Given the description of an element on the screen output the (x, y) to click on. 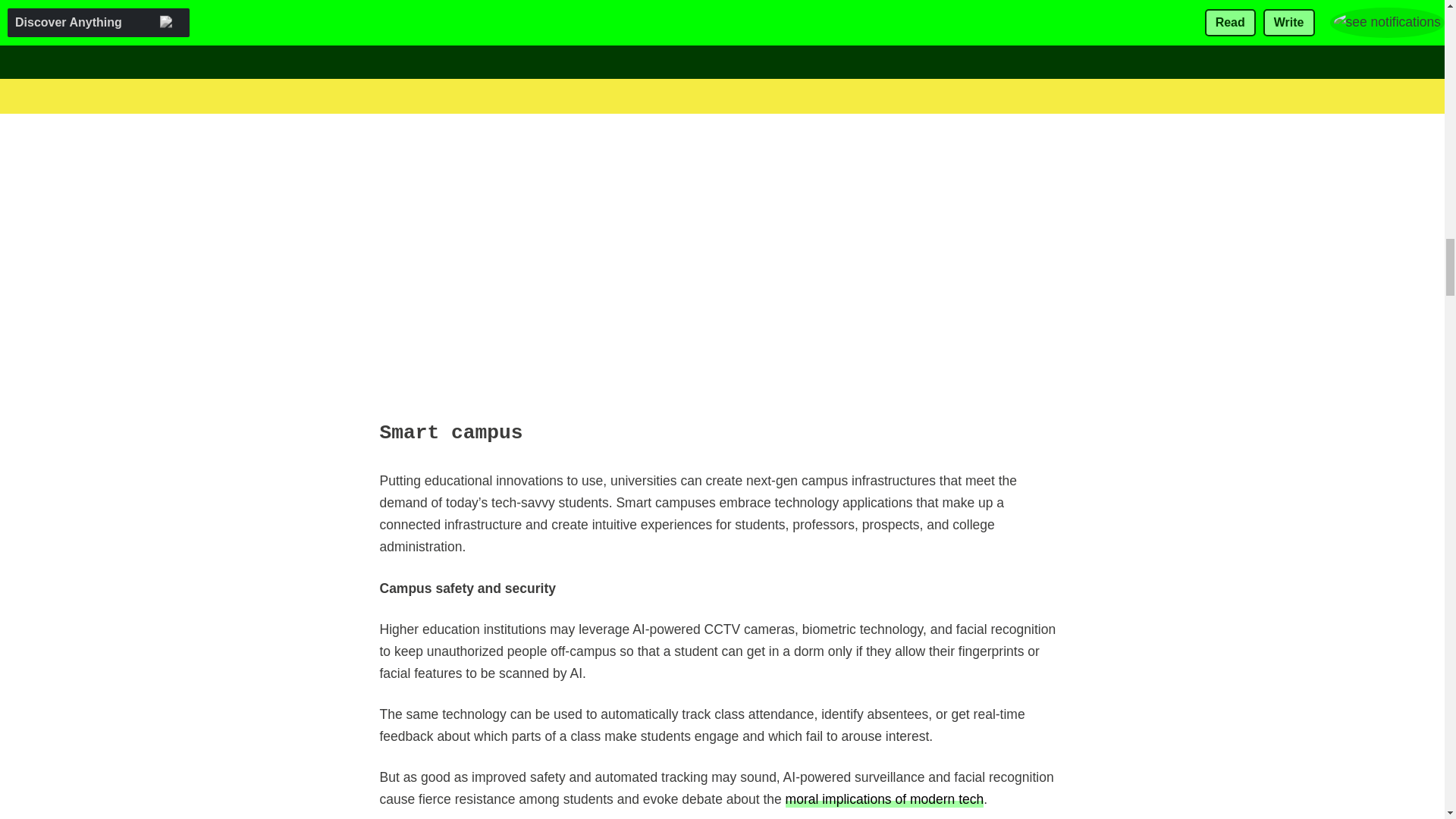
moral implications of modern tech (885, 798)
